Given the description of an element on the screen output the (x, y) to click on. 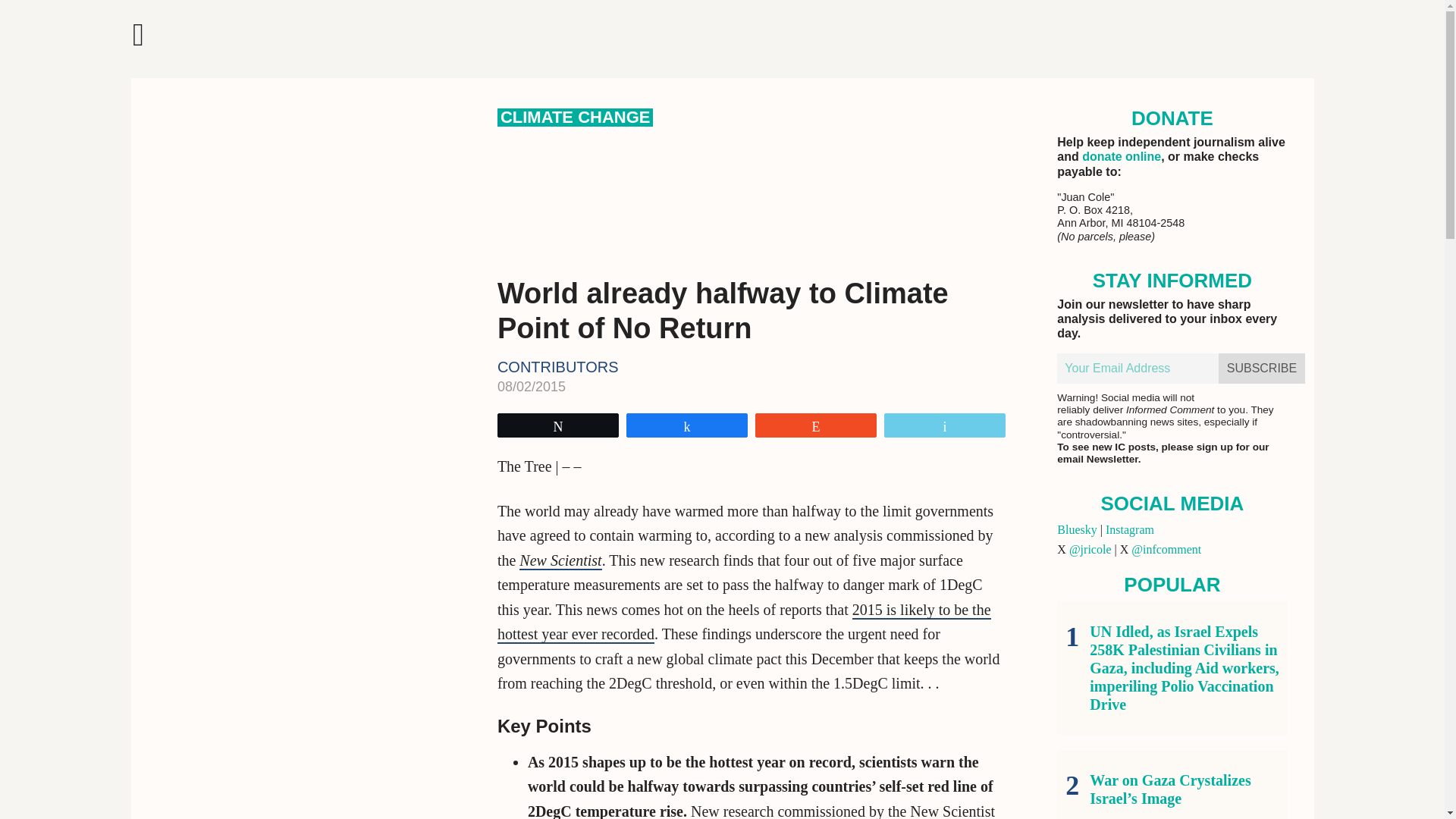
CLIMATE CHANGE (575, 117)
CONTRIBUTORS (557, 366)
2015 is likely to be the hottest year ever recorded (744, 622)
subscribe (1262, 368)
New Scientist (560, 561)
